Given the description of an element on the screen output the (x, y) to click on. 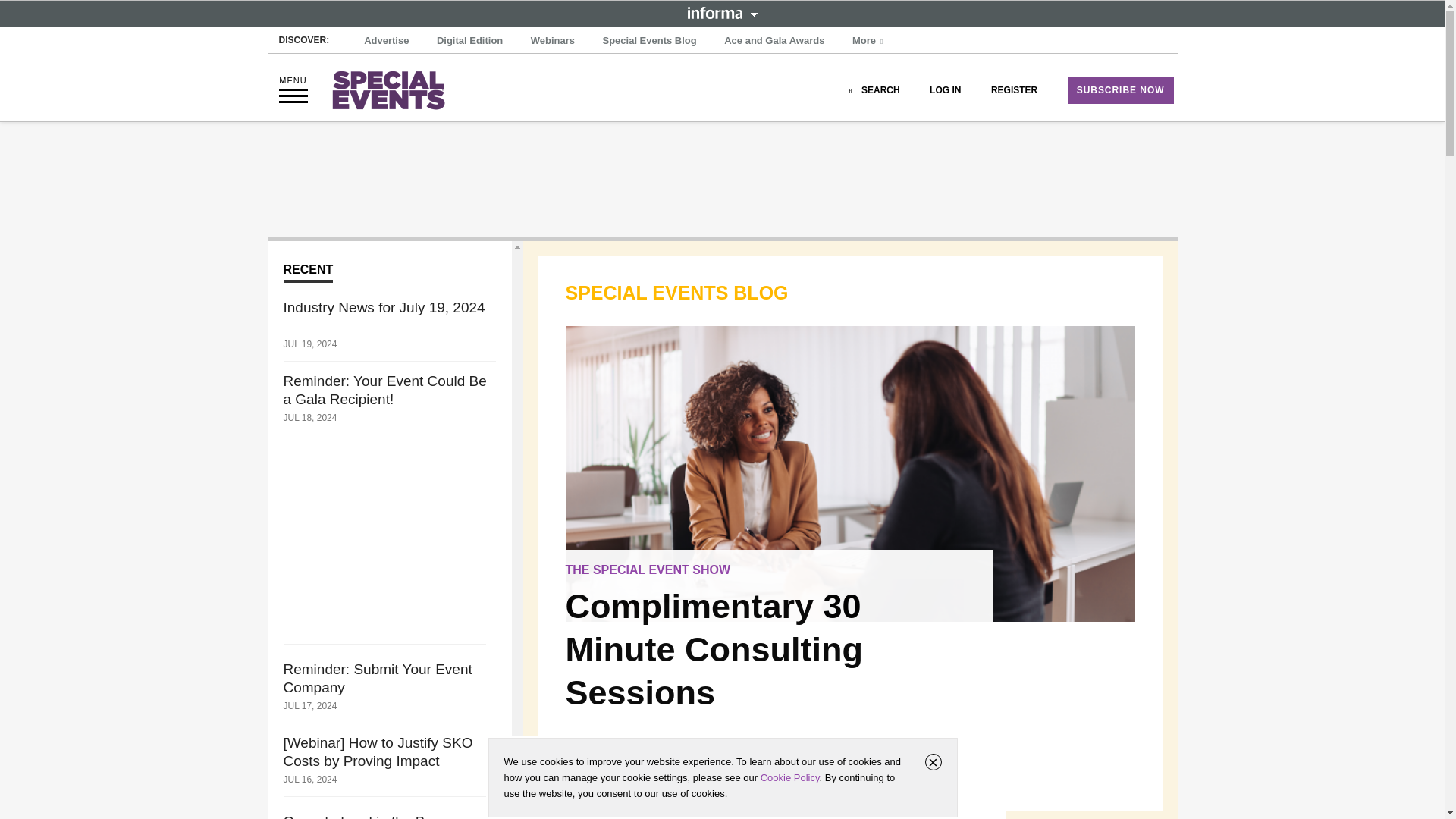
INFORMA (722, 12)
Ace and Gala Awards (773, 41)
Cookie Policy (789, 777)
Advertise (386, 41)
Digital Edition (469, 41)
More (869, 41)
Webinars (552, 41)
Special Events Blog (648, 41)
